Given the description of an element on the screen output the (x, y) to click on. 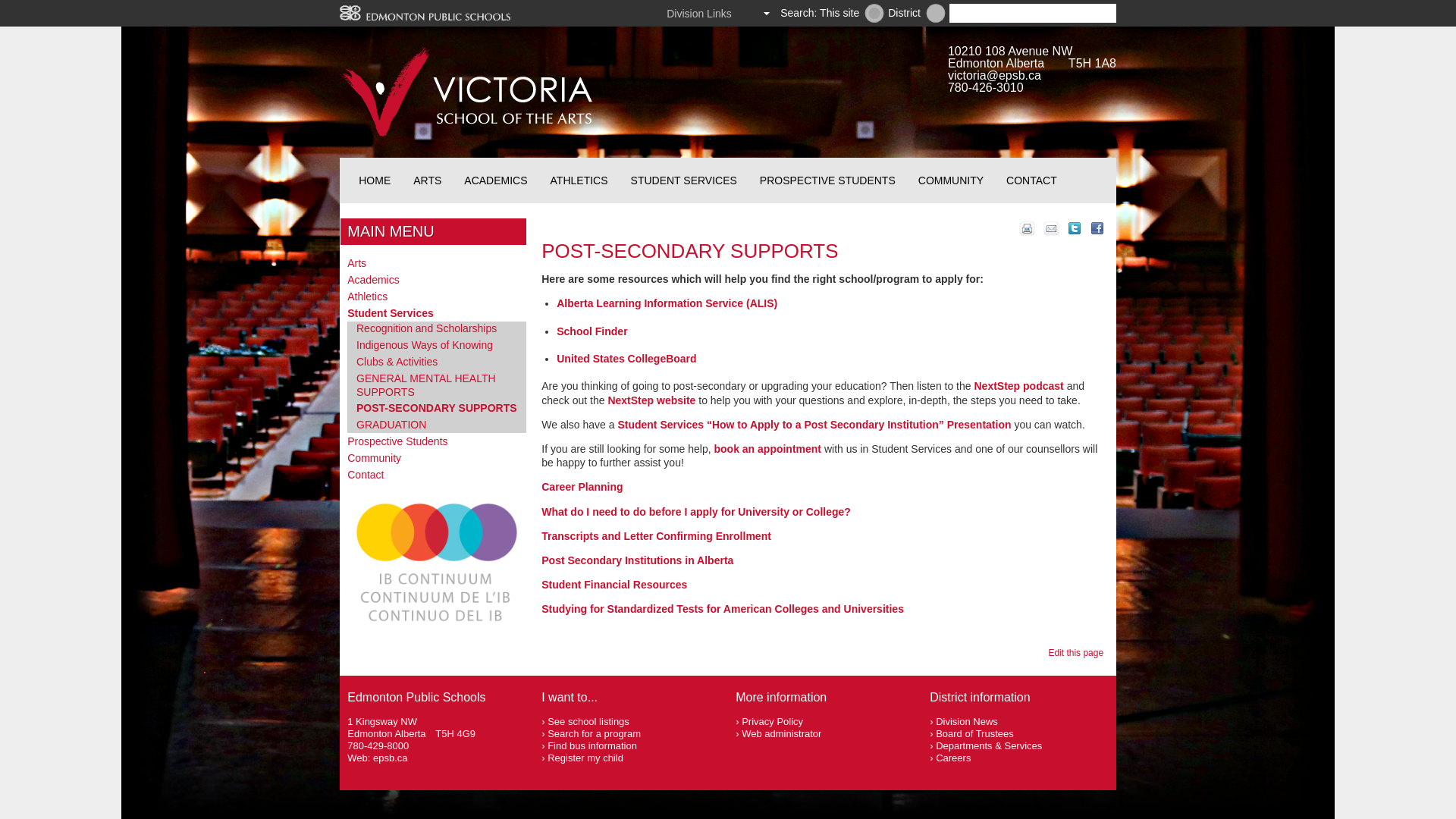
ACADEMICS (495, 180)
ARTS (426, 180)
victoria.epsb.ca (874, 13)
HOME (374, 180)
780-426-3010 (985, 87)
